Given the description of an element on the screen output the (x, y) to click on. 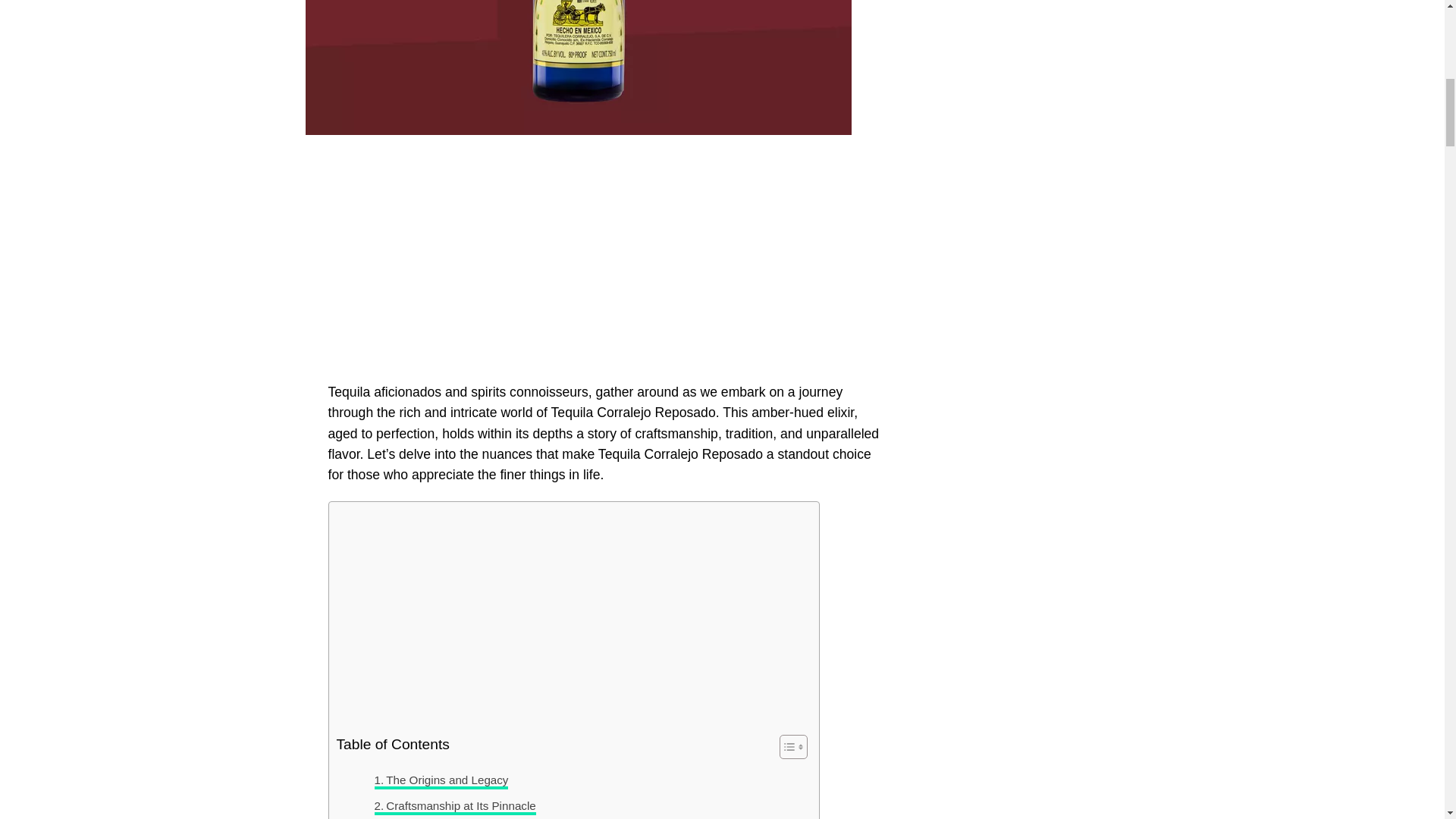
The Origins and Legacy (441, 780)
Craftsmanship at Its Pinnacle (454, 805)
Advertisement (569, 621)
Advertisement (607, 269)
